Given the description of an element on the screen output the (x, y) to click on. 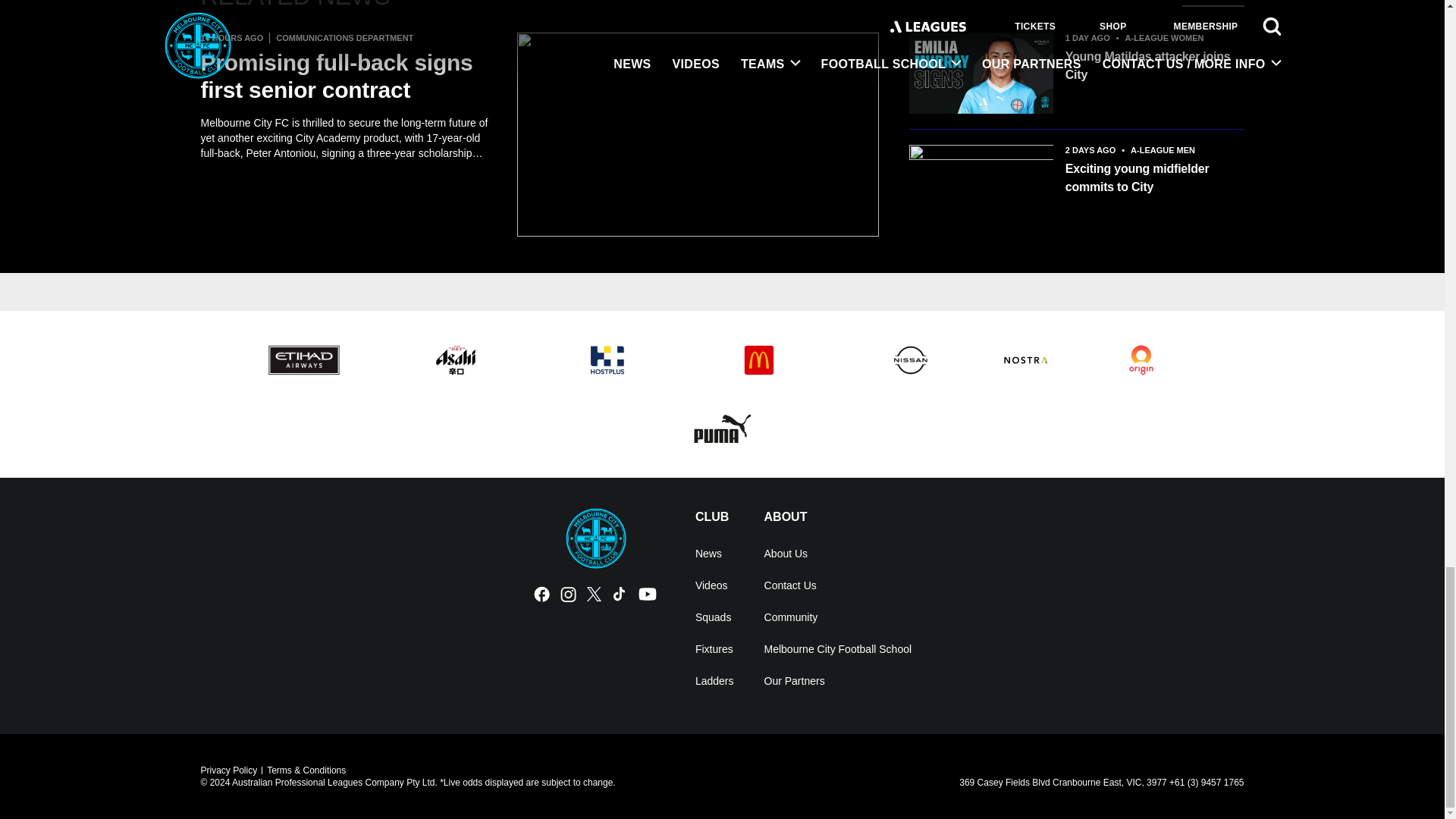
Nissan (909, 360)
Hostplus (606, 360)
Asahi Super Dry (454, 360)
Origin (1140, 360)
Nostra (1025, 360)
Etihad Airways (303, 360)
PUMA (722, 428)
